Given the description of an element on the screen output the (x, y) to click on. 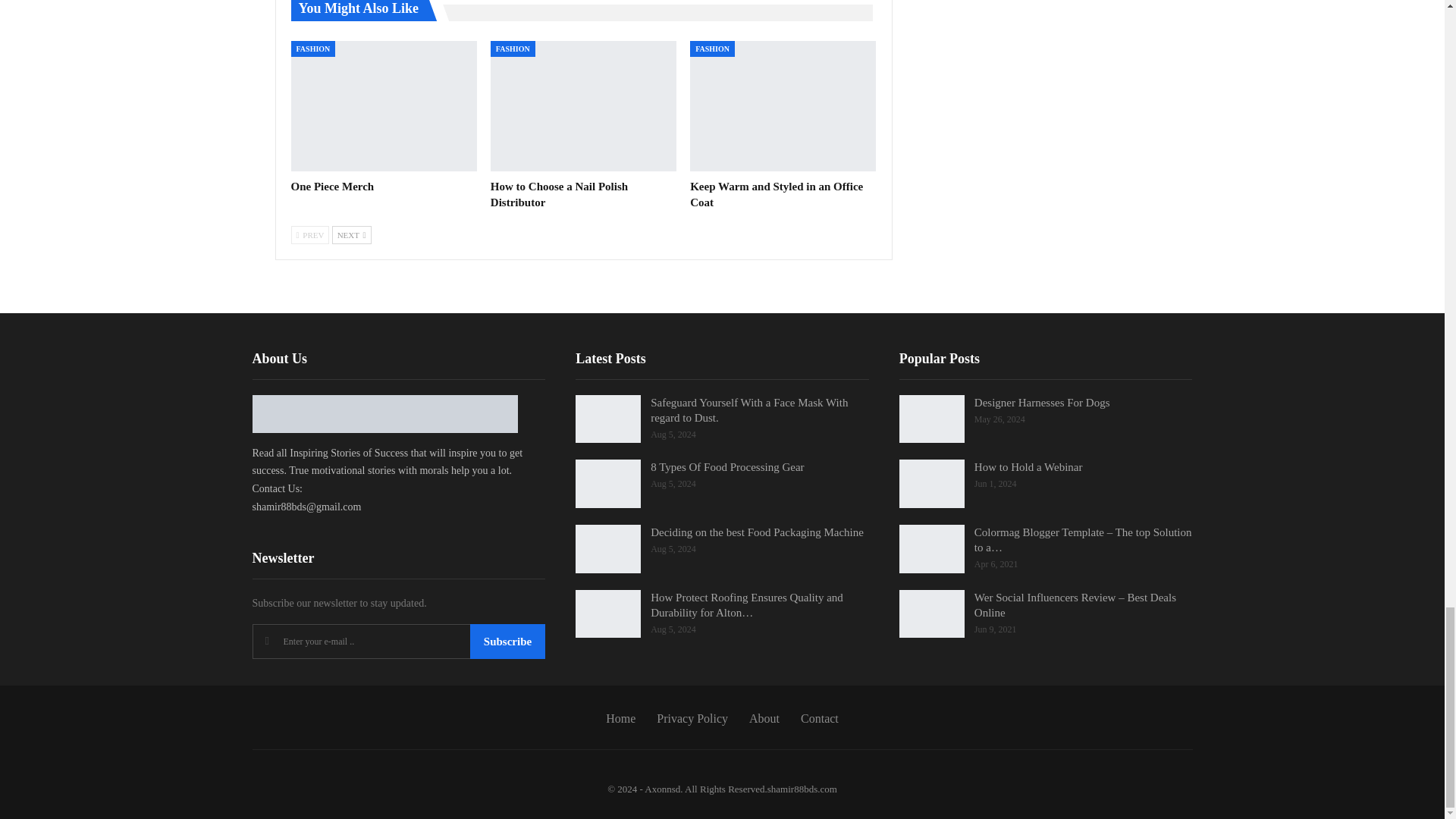
How to Choose a Nail Polish Distributor (558, 194)
One Piece Merch (332, 186)
One Piece Merch (384, 105)
How to Choose a Nail Polish Distributor (583, 105)
